Given the description of an element on the screen output the (x, y) to click on. 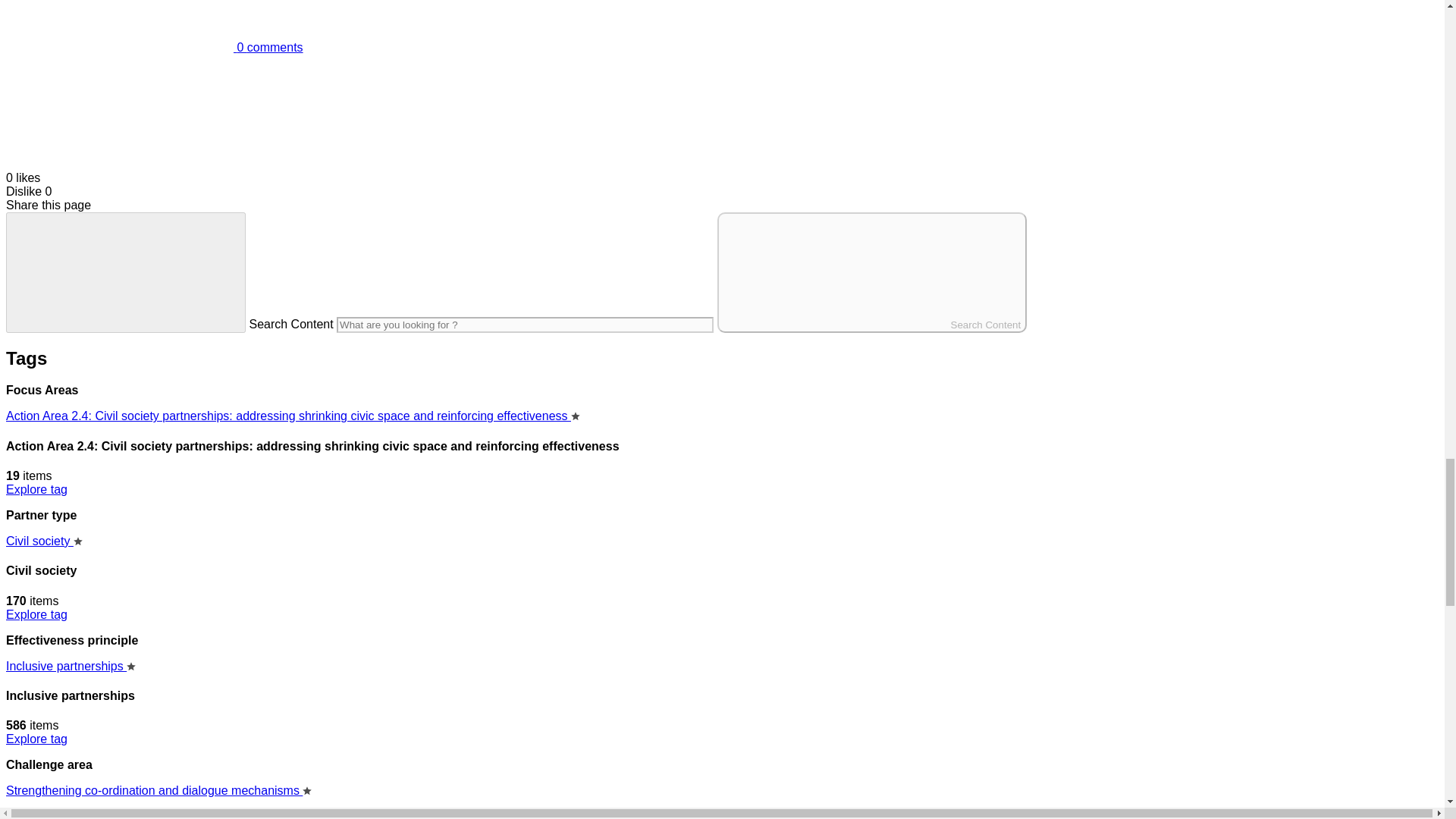
Total amount of comments (153, 47)
Dislike (23, 191)
Total amount of comments (118, 25)
Close search window (125, 271)
Total amount of likes (118, 111)
Like (118, 164)
Close search window (125, 272)
